Given the description of an element on the screen output the (x, y) to click on. 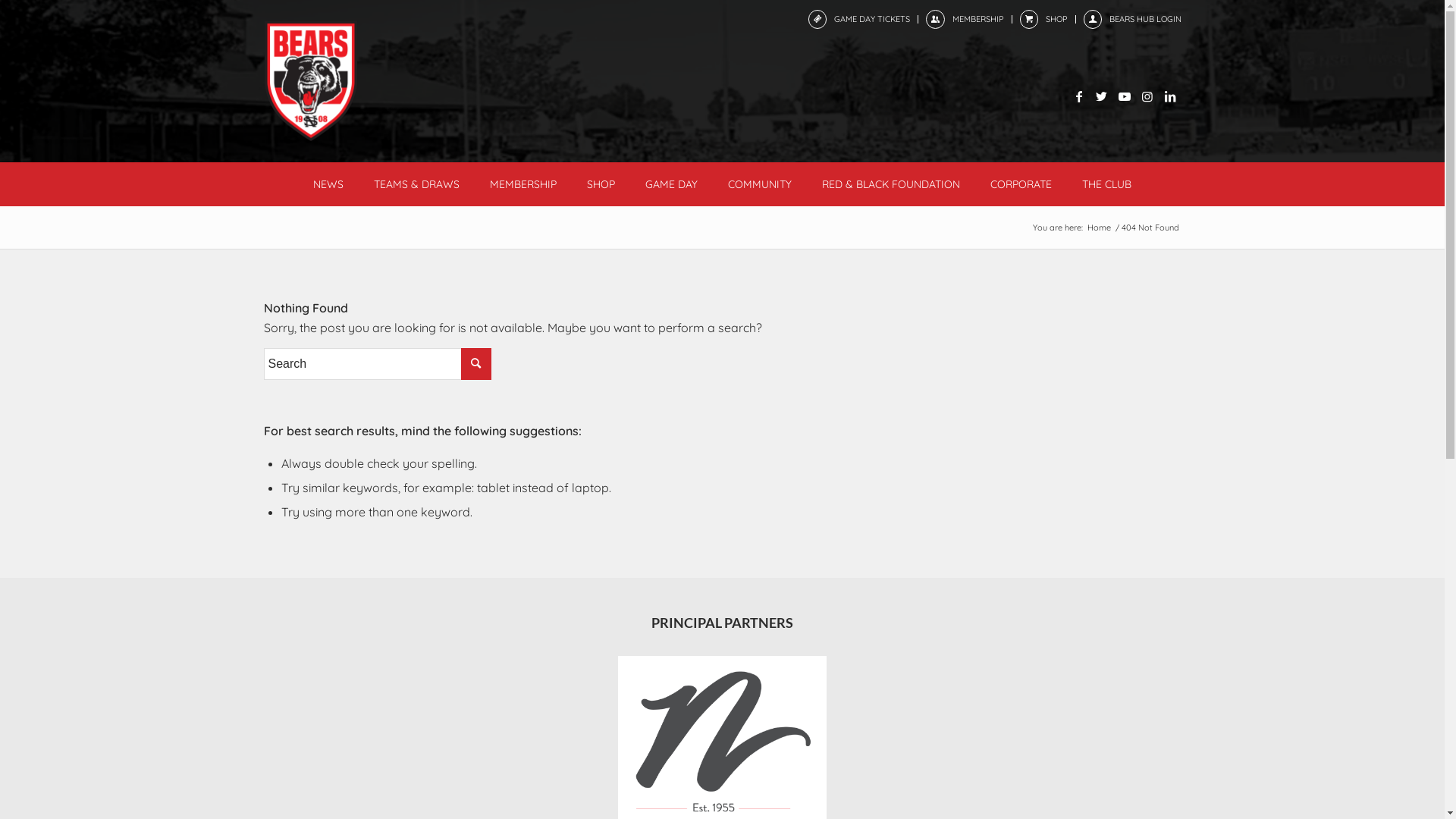
Twitter Element type: hover (1101, 95)
MEMBERSHIP Element type: text (522, 184)
RED & BLACK FOUNDATION Element type: text (890, 184)
GAME DAY TICKETS Element type: text (872, 18)
COMMUNITY Element type: text (759, 184)
SHOP Element type: text (600, 184)
Home Element type: text (1098, 227)
CORPORATE Element type: text (1020, 184)
THE CLUB Element type: text (1106, 184)
Youtube Element type: hover (1124, 95)
BEARS HUB LOGIN Element type: text (1144, 18)
LinkedIn Element type: hover (1169, 95)
MEMBERSHIP Element type: text (978, 18)
NEWS Element type: text (328, 184)
Instagram Element type: hover (1146, 95)
SHOP Element type: text (1055, 18)
Facebook Element type: hover (1078, 95)
bears Element type: hover (310, 80)
